Given the description of an element on the screen output the (x, y) to click on. 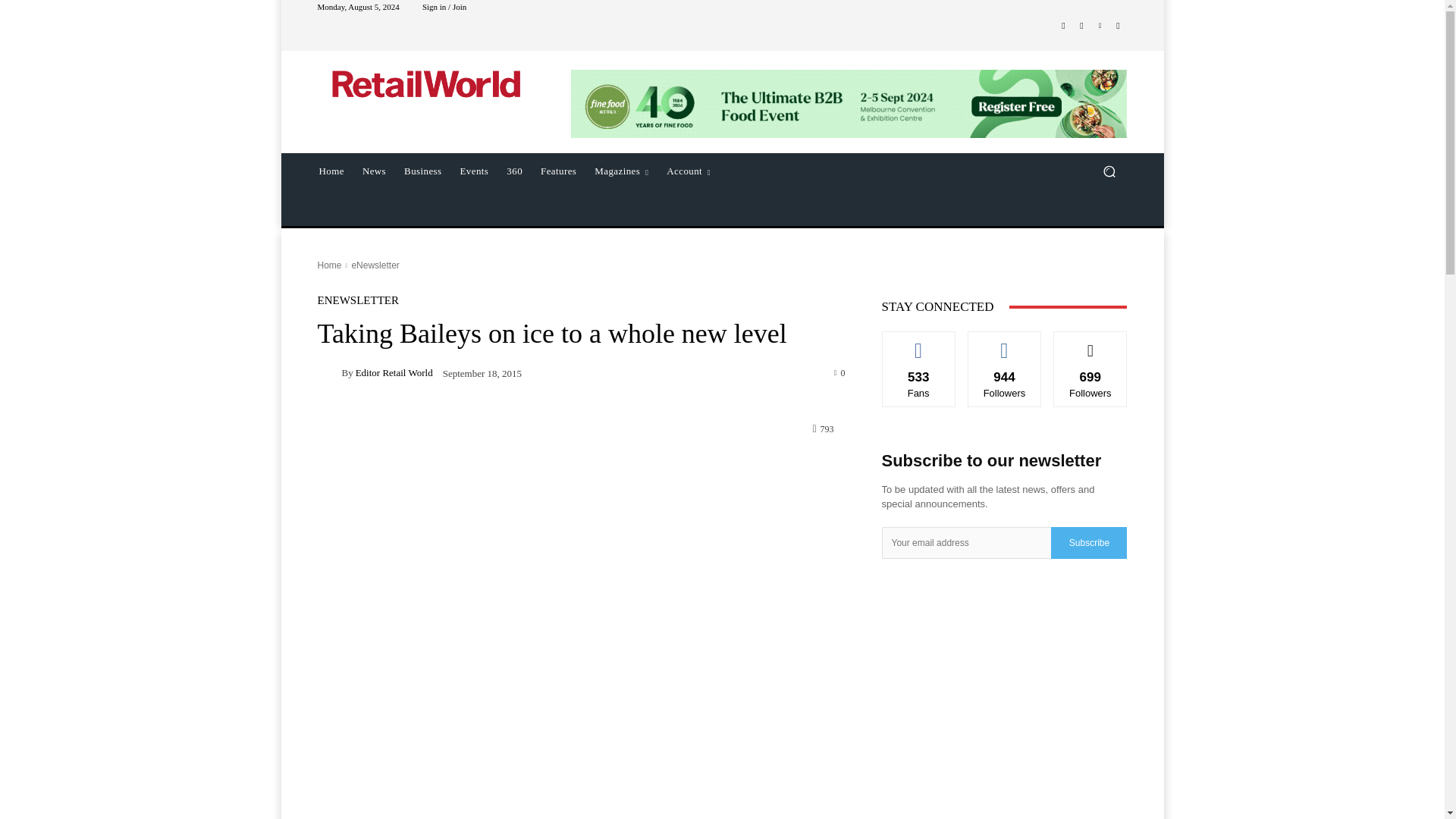
Editor Retail World (328, 373)
View all posts in eNewsletter (374, 265)
Twitter (1117, 25)
Events (474, 171)
Business (421, 171)
Home (328, 265)
News (373, 171)
Account (688, 171)
Linkedin (1099, 25)
360 (514, 171)
Instagram (1080, 25)
Facebook (1062, 25)
Home (330, 171)
Features (558, 171)
Magazines (621, 171)
